Given the description of an element on the screen output the (x, y) to click on. 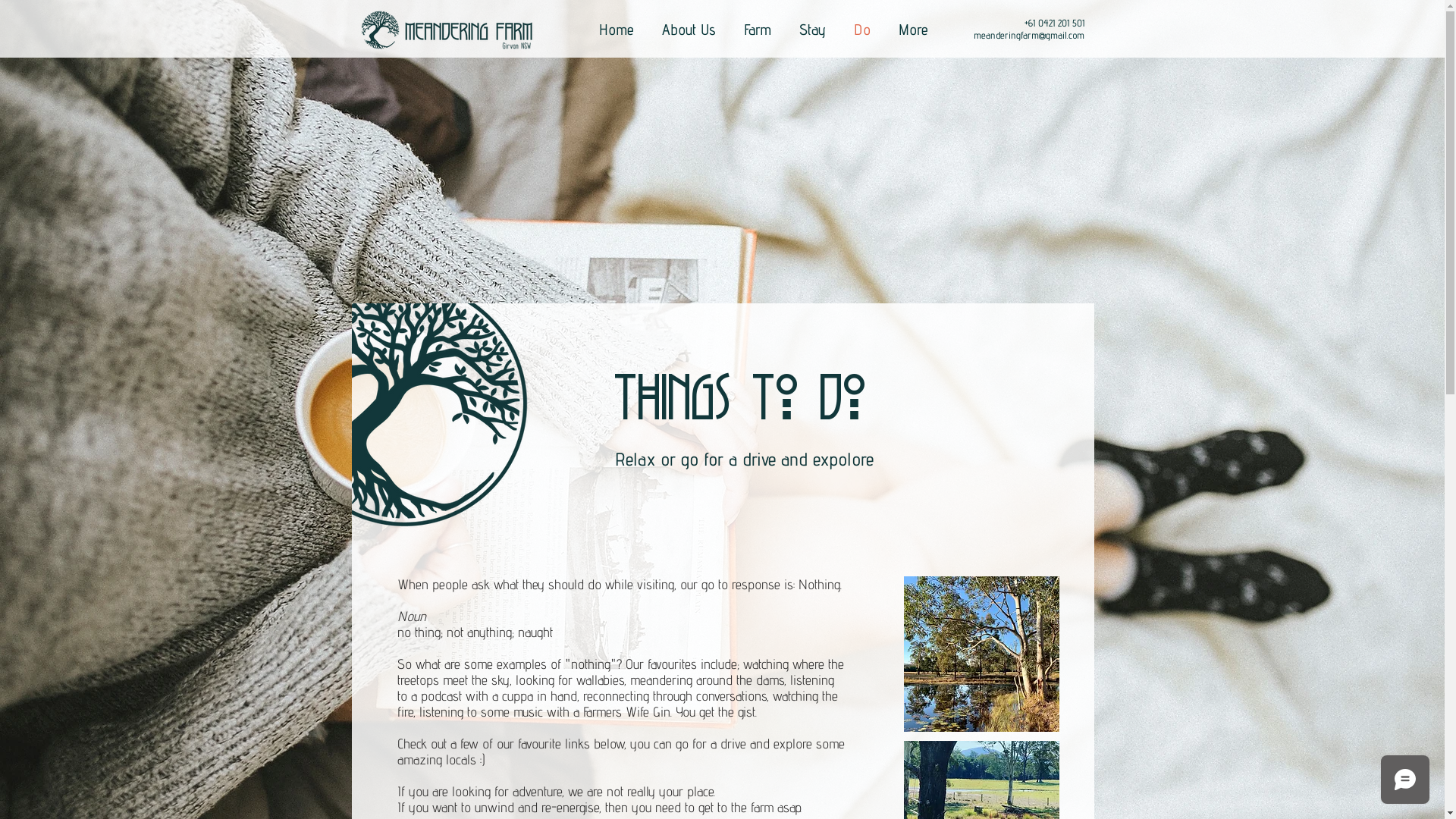
Farm Element type: text (756, 29)
meanderingfarm@gmail.com Element type: text (1028, 34)
Home Element type: text (616, 29)
Do Element type: text (862, 29)
About Us Element type: text (688, 29)
Stay Element type: text (812, 29)
